Given the description of an element on the screen output the (x, y) to click on. 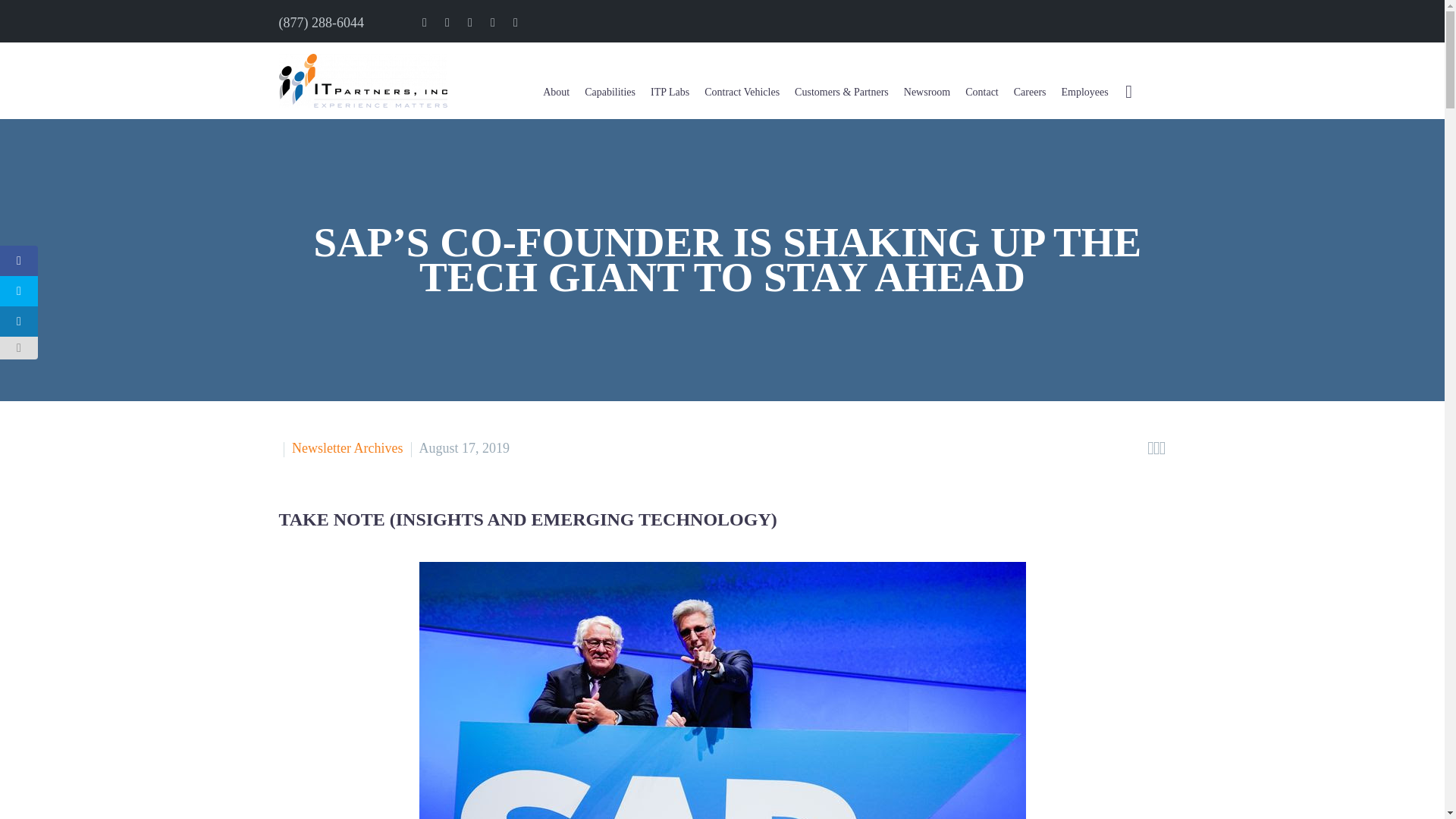
About (555, 80)
YouTube (515, 22)
Facebook (424, 22)
Vimeo (492, 22)
Contract Vehicles (742, 80)
Capabilities (609, 80)
LinkedIn (446, 22)
Newsroom (927, 80)
ITP Labs (670, 80)
View all posts in Newsletter Archives (347, 447)
